Given the description of an element on the screen output the (x, y) to click on. 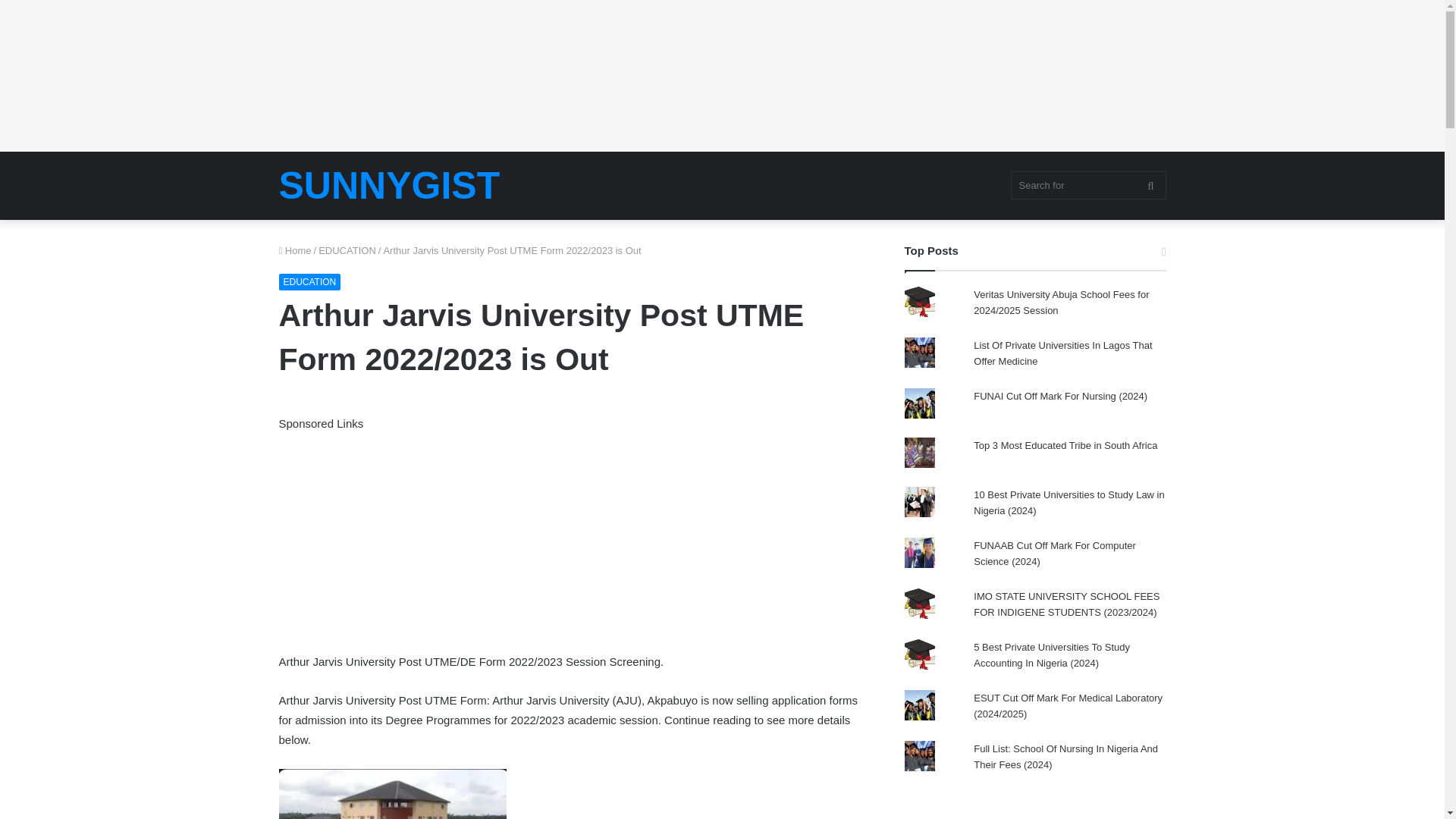
Search for (1088, 185)
SUNNYGIST (389, 185)
SUNNYGIST (389, 185)
EDUCATION (309, 281)
EDUCATION (346, 250)
Advertisement (574, 540)
Home (295, 250)
